Given the description of an element on the screen output the (x, y) to click on. 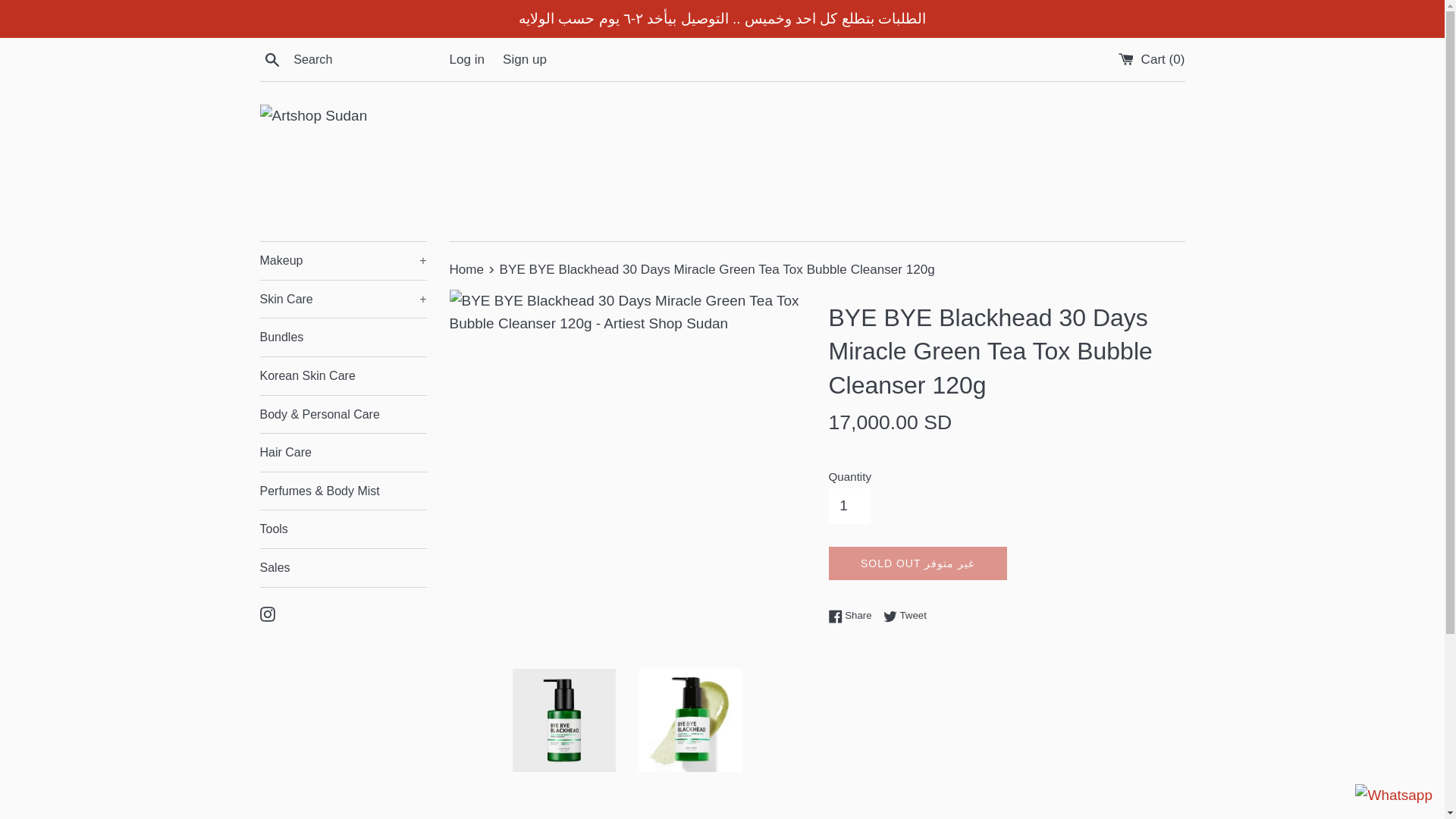
Back to the frontpage (467, 269)
Tweet on Twitter (904, 615)
Sales (342, 567)
1 (848, 505)
Sign up (524, 59)
Share on Facebook (853, 615)
Bundles (342, 337)
Hair Care (342, 452)
Artshop Sudan on Instagram (267, 612)
Tools (342, 528)
